Given the description of an element on the screen output the (x, y) to click on. 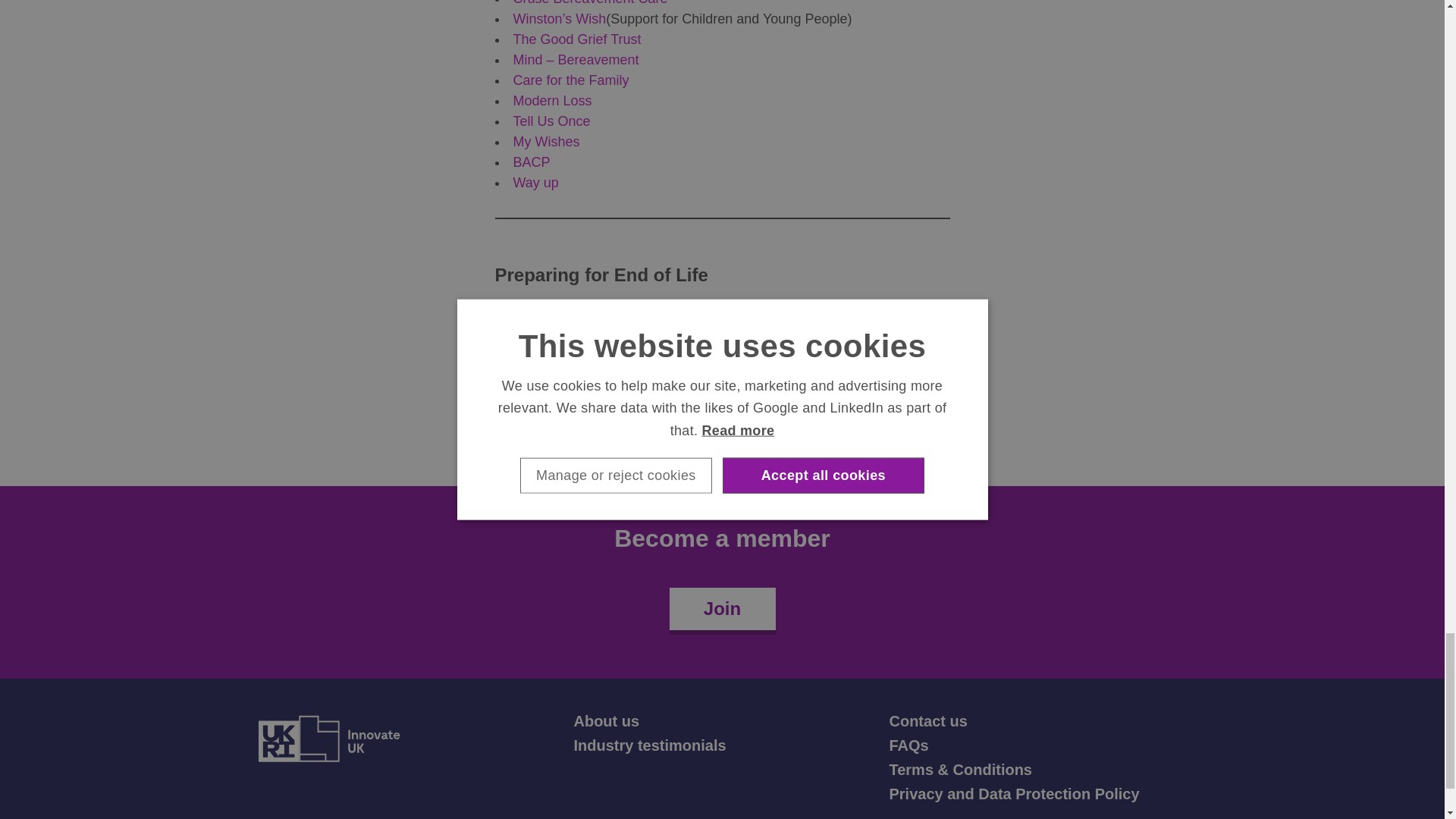
Innovate UK Website (327, 738)
Privacy and Data Protection Policy (1013, 793)
Industry testimonials (649, 745)
About us (606, 720)
FAQs (908, 745)
Contact us (927, 720)
